Given the description of an element on the screen output the (x, y) to click on. 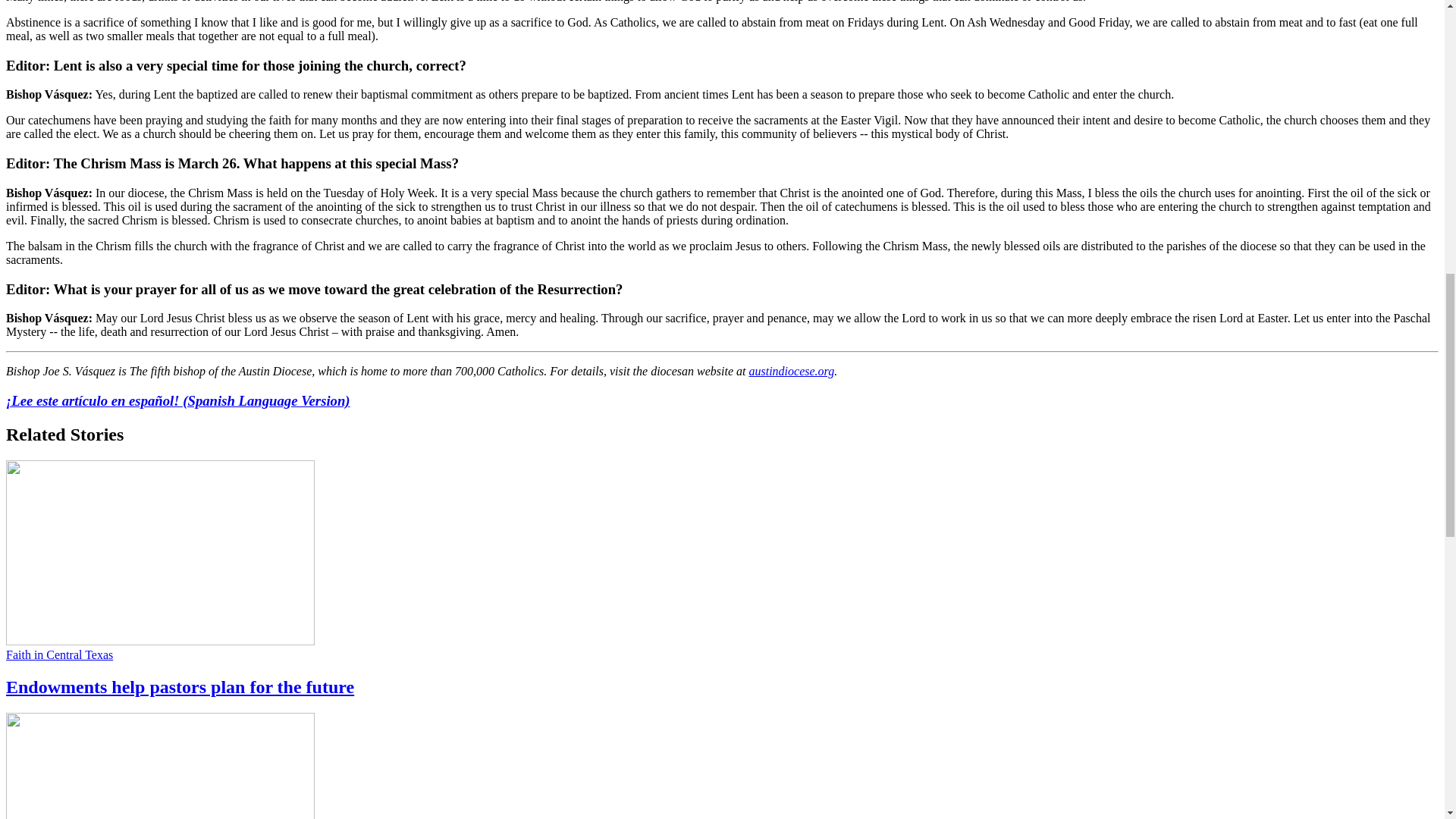
austindiocese.org (791, 370)
Endowments help pastors plan for the future (179, 686)
Faith in Central Texas (59, 654)
